Given the description of an element on the screen output the (x, y) to click on. 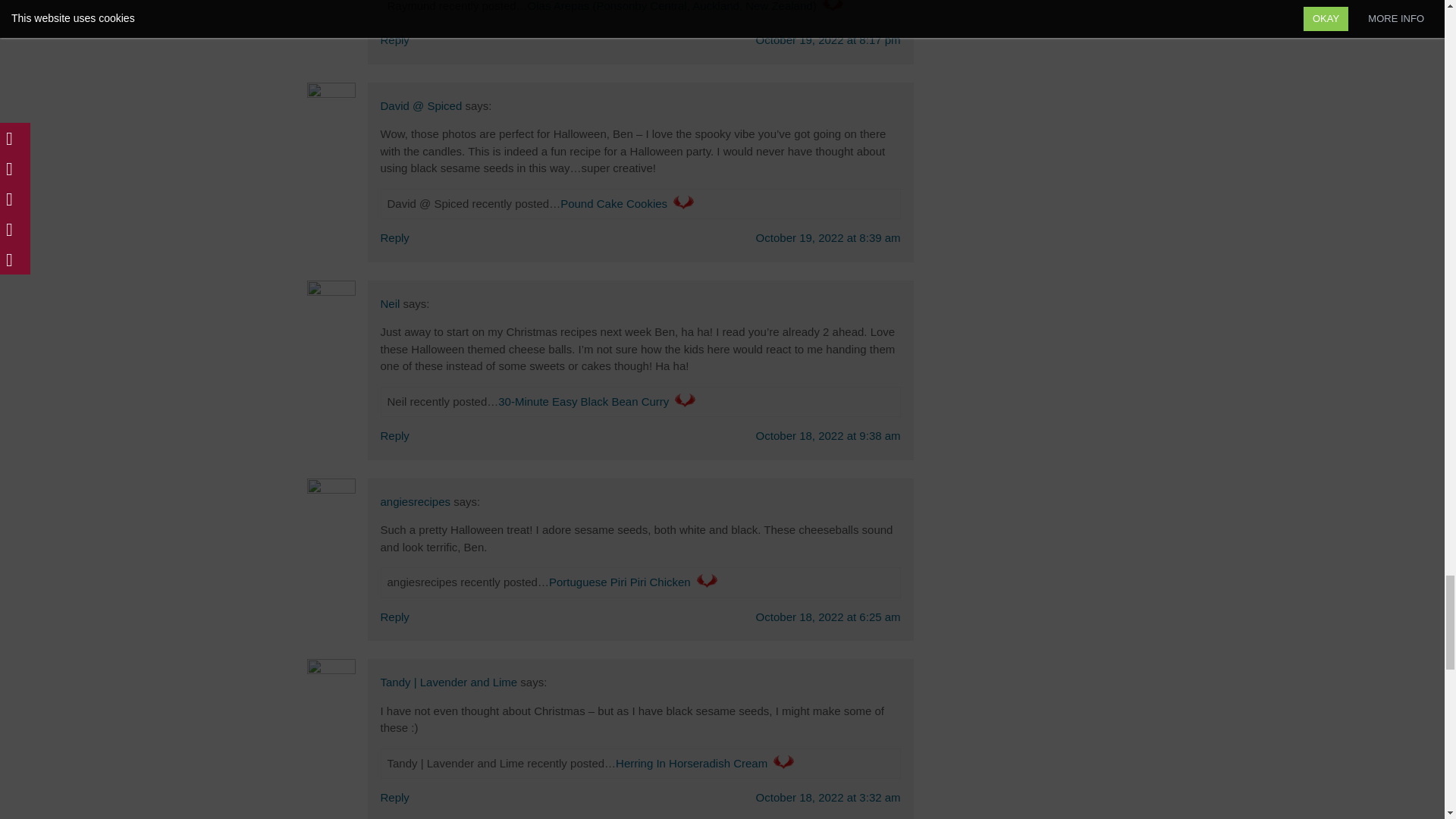
October 19, 2022 at 8:39 am (828, 237)
Reply (394, 435)
Reply (394, 39)
Reply (394, 237)
Pound Cake Cookies (613, 203)
October 18, 2022 at 9:38 am (828, 435)
October 19, 2022 at 8:17 pm (828, 39)
30-Minute Easy Black Bean Curry (582, 400)
Neil (390, 303)
